Given the description of an element on the screen output the (x, y) to click on. 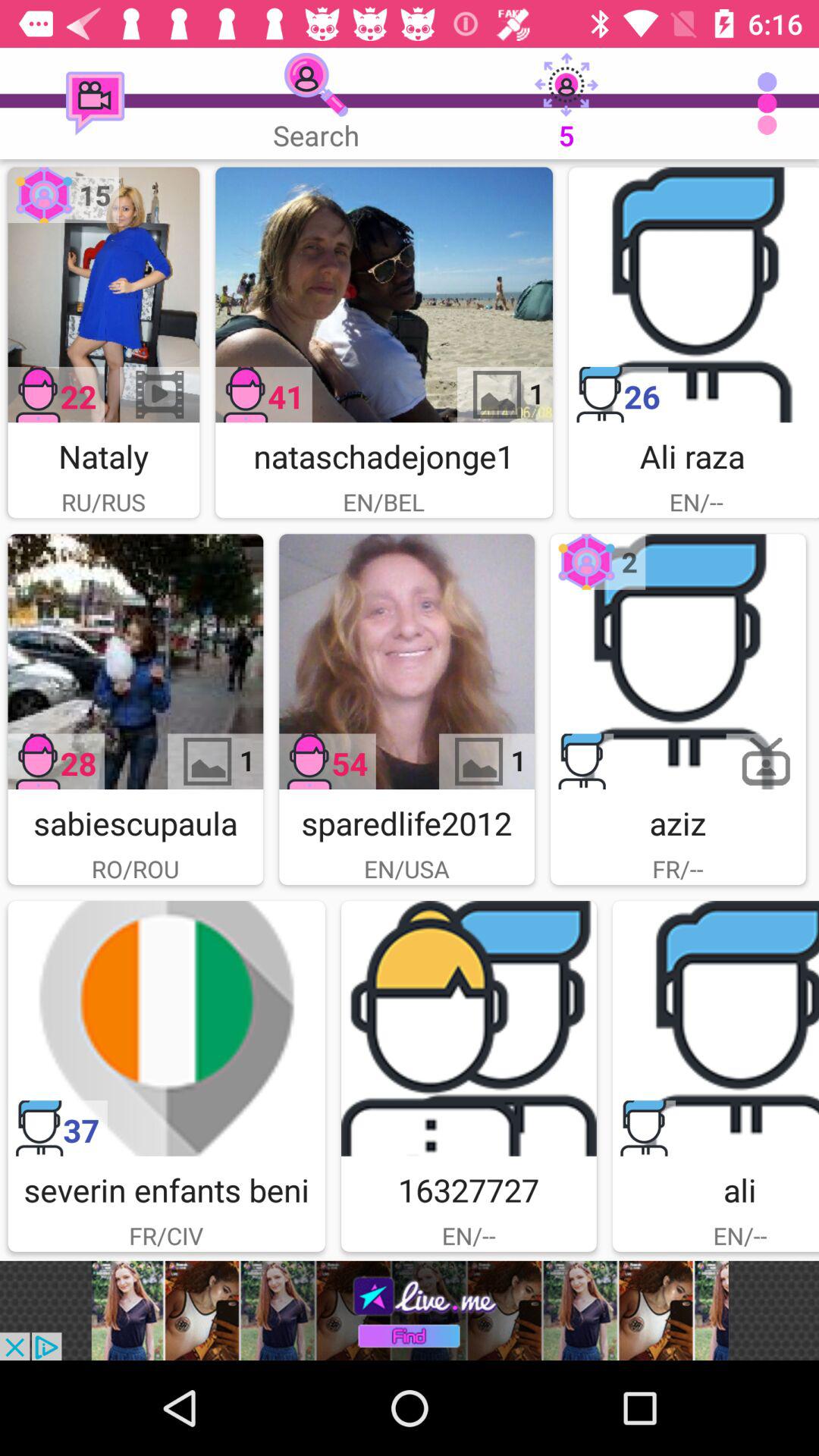
davertisement (677, 661)
